Given the description of an element on the screen output the (x, y) to click on. 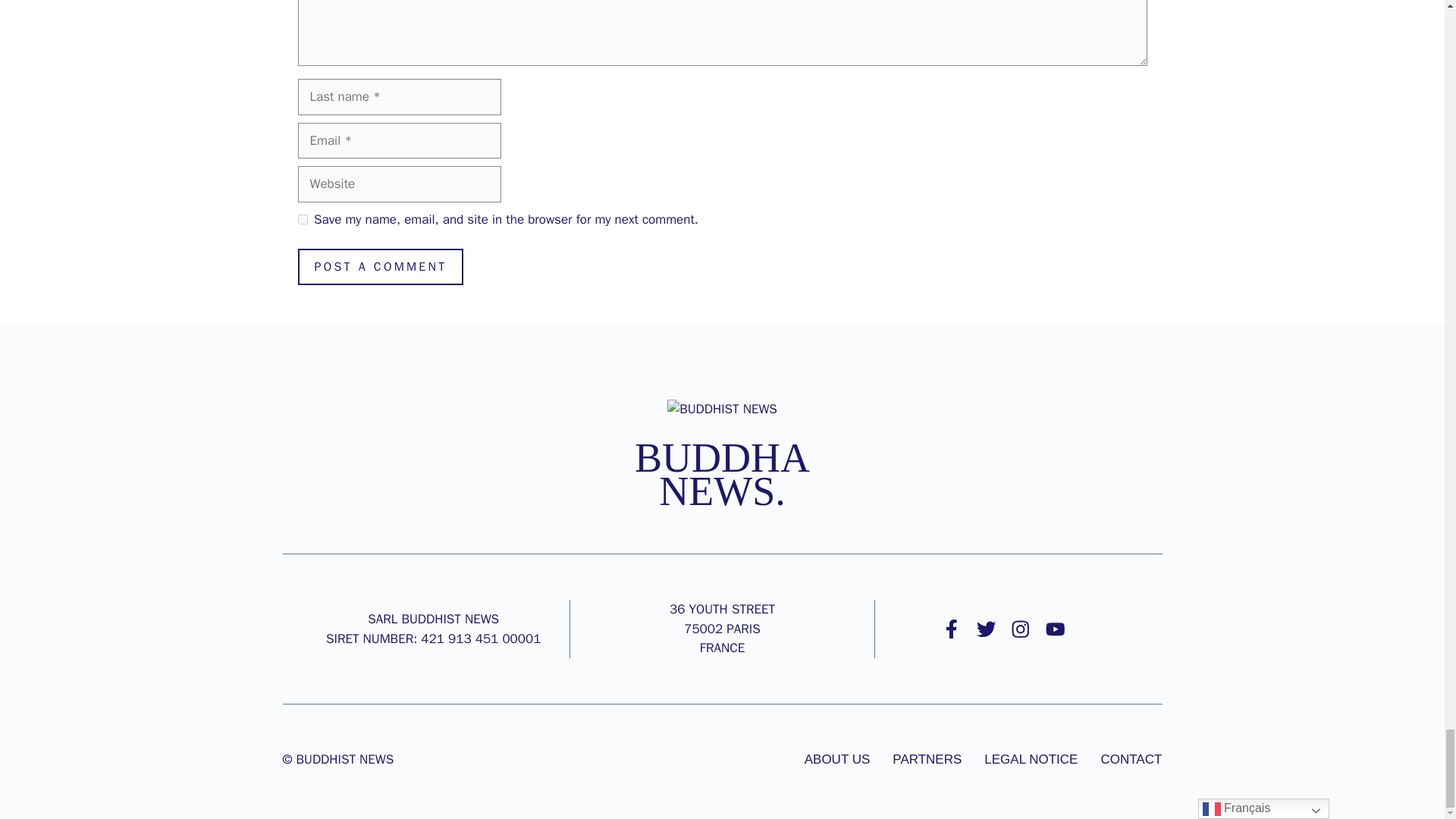
Post a Comment (380, 266)
yes (302, 219)
